Given the description of an element on the screen output the (x, y) to click on. 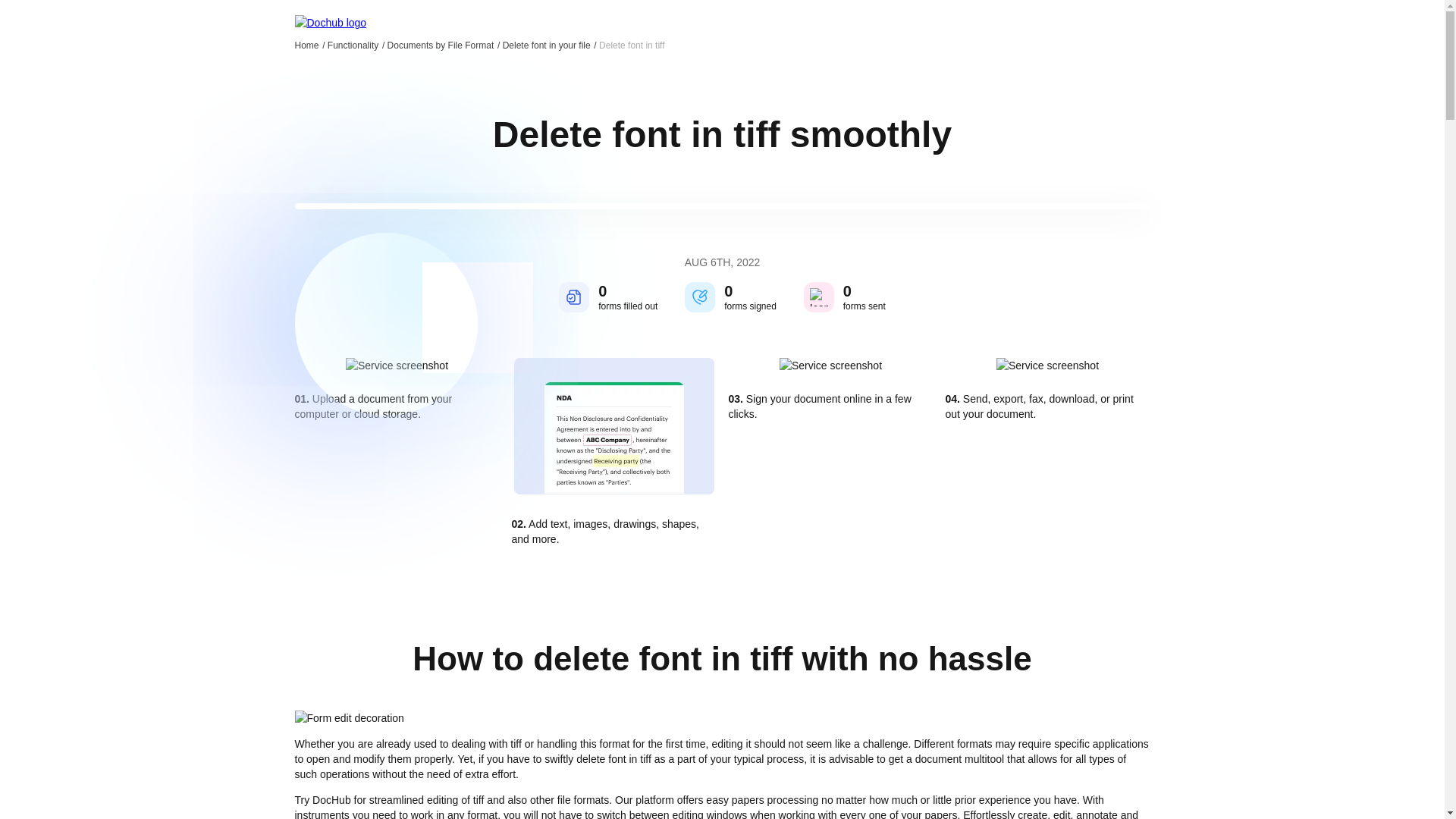
Delete font in your file (549, 45)
Documents by File Format (443, 45)
Home (309, 45)
Functionality (355, 45)
